Given the description of an element on the screen output the (x, y) to click on. 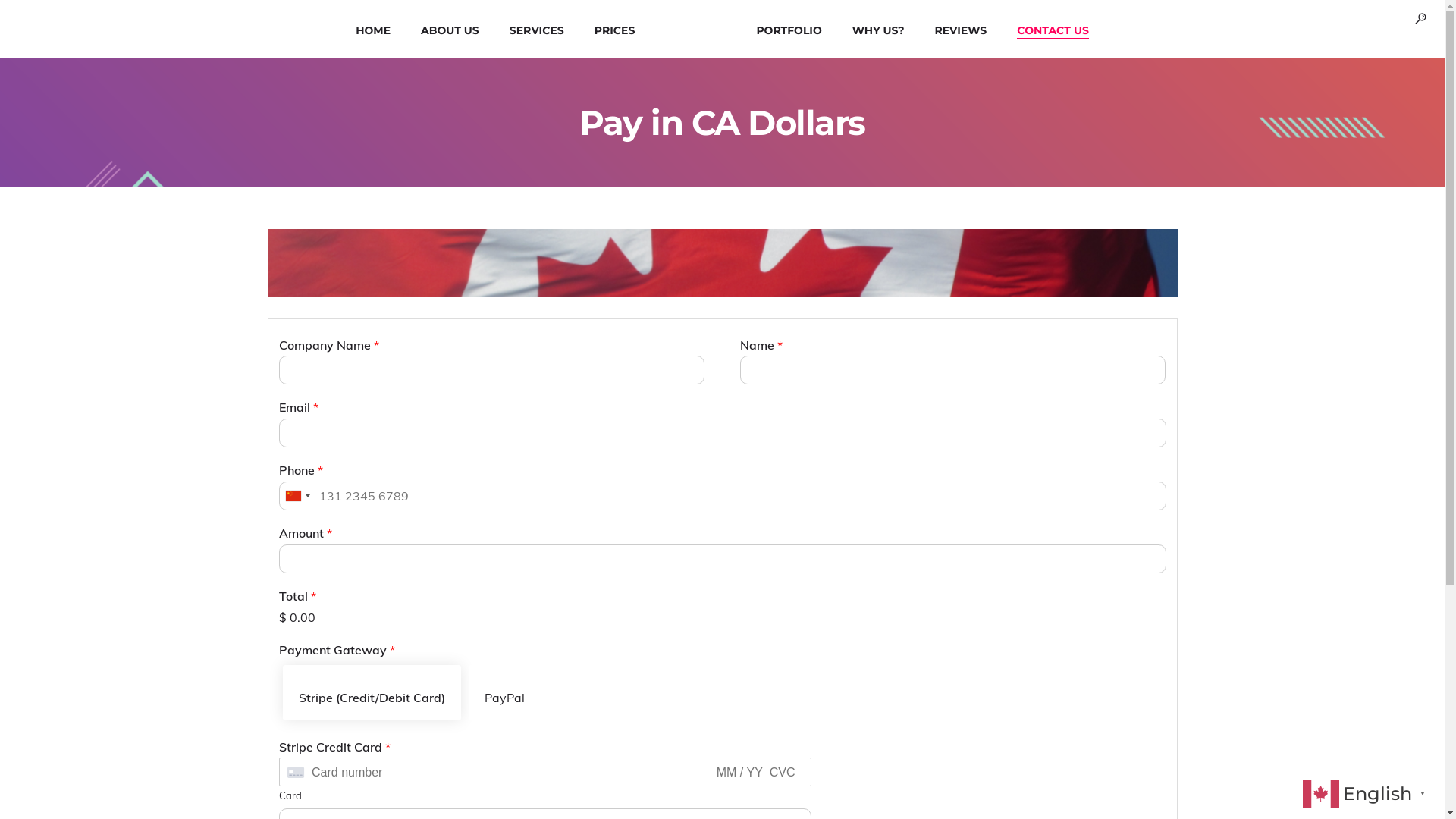
PRICES Element type: text (614, 28)
SERVICES Element type: text (536, 28)
HOME Element type: text (372, 28)
Search Element type: text (25, 11)
REVIEWS Element type: text (961, 28)
CONTACT US Element type: text (1052, 28)
PORTFOLIO Element type: text (788, 28)
Secure card payment input frame Element type: hover (544, 772)
WHY US? Element type: text (878, 28)
ABOUT US Element type: text (449, 28)
